Given the description of an element on the screen output the (x, y) to click on. 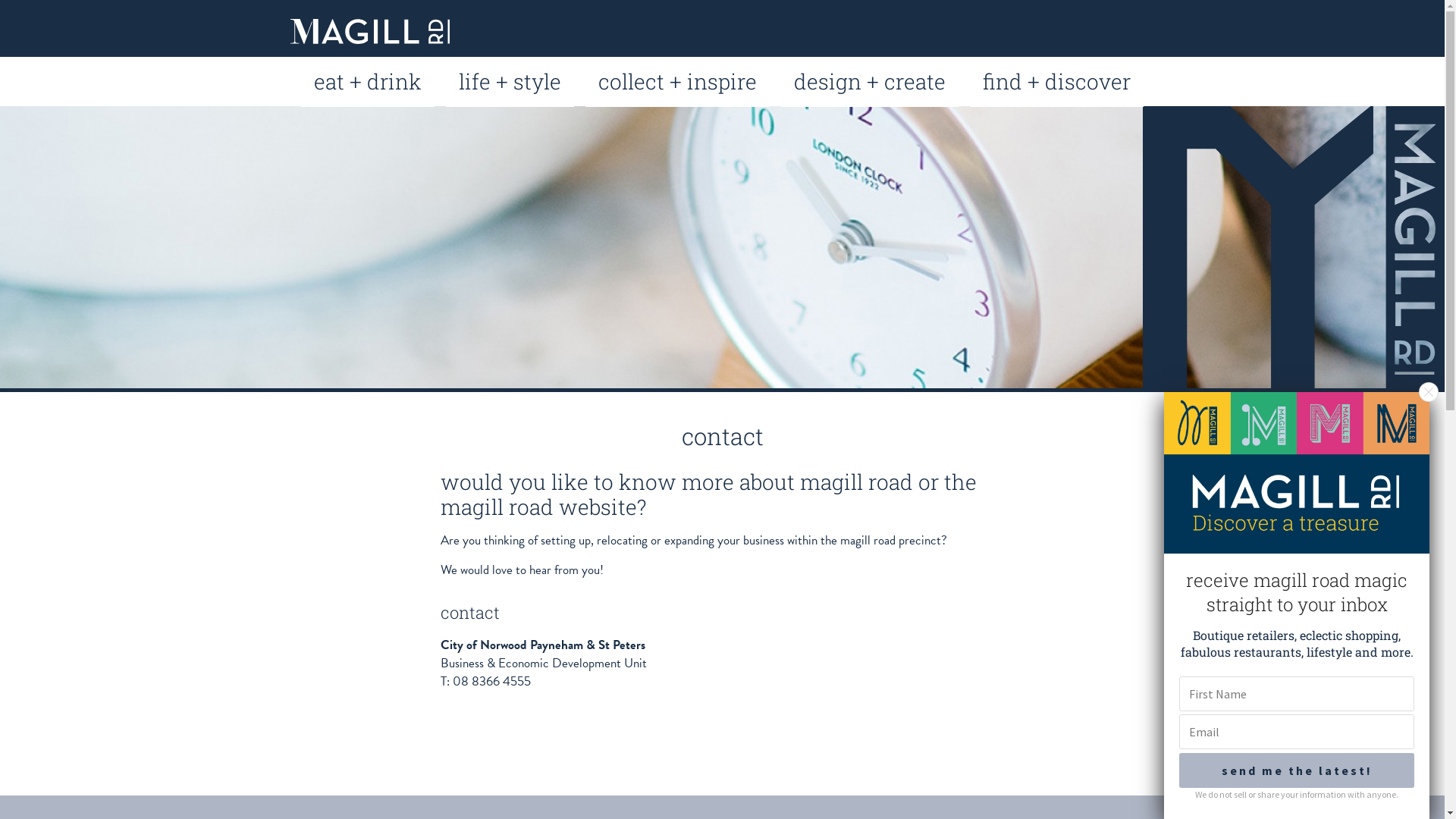
design + create Element type: text (869, 81)
find + discover Element type: text (1056, 81)
collect + inspire Element type: text (677, 81)
eat + drink Element type: text (367, 81)
Close Element type: hover (1428, 391)
send me the latest! Element type: text (1296, 770)
life + style Element type: text (509, 81)
